Given the description of an element on the screen output the (x, y) to click on. 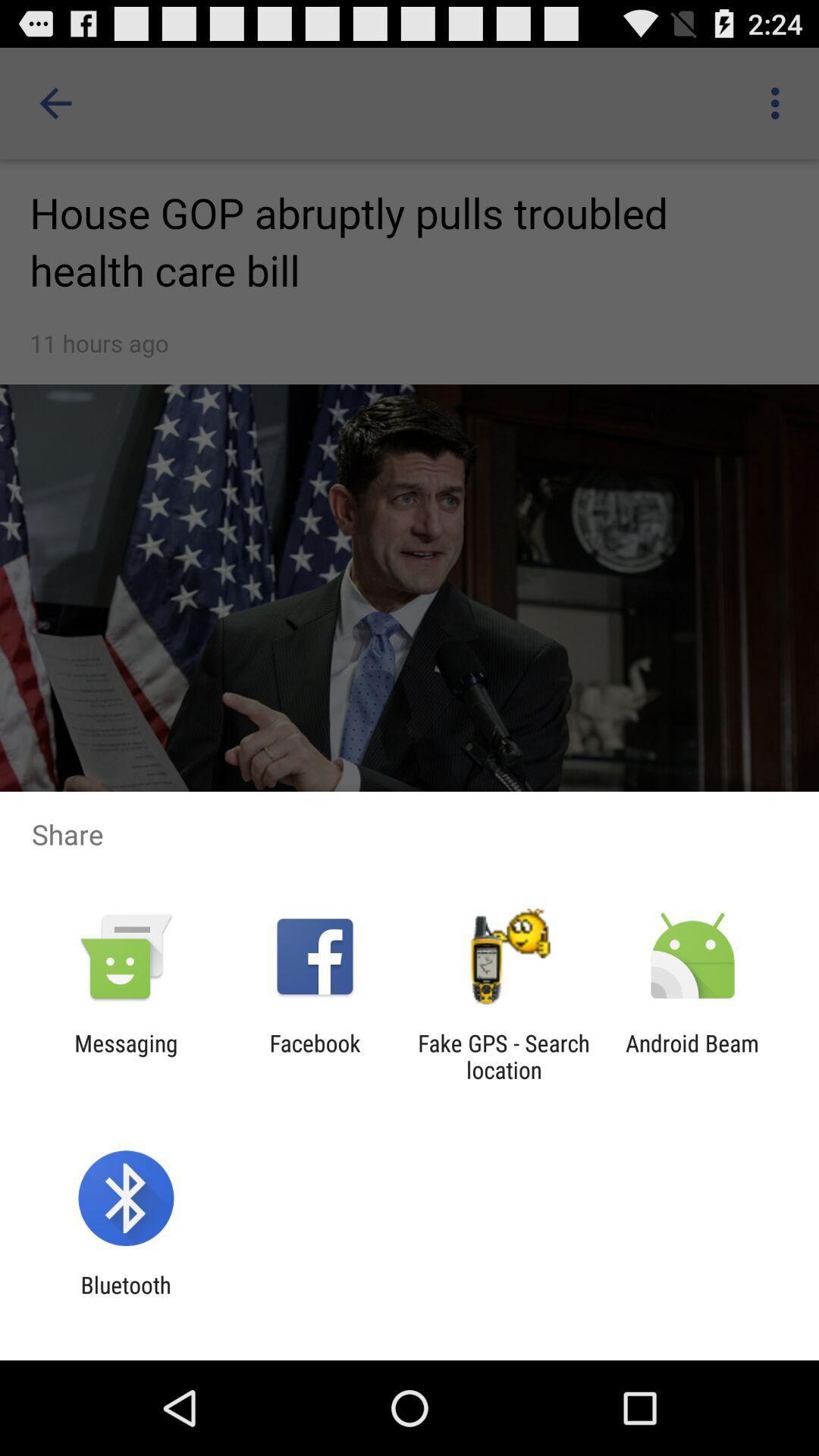
turn off item next to the facebook item (126, 1056)
